Given the description of an element on the screen output the (x, y) to click on. 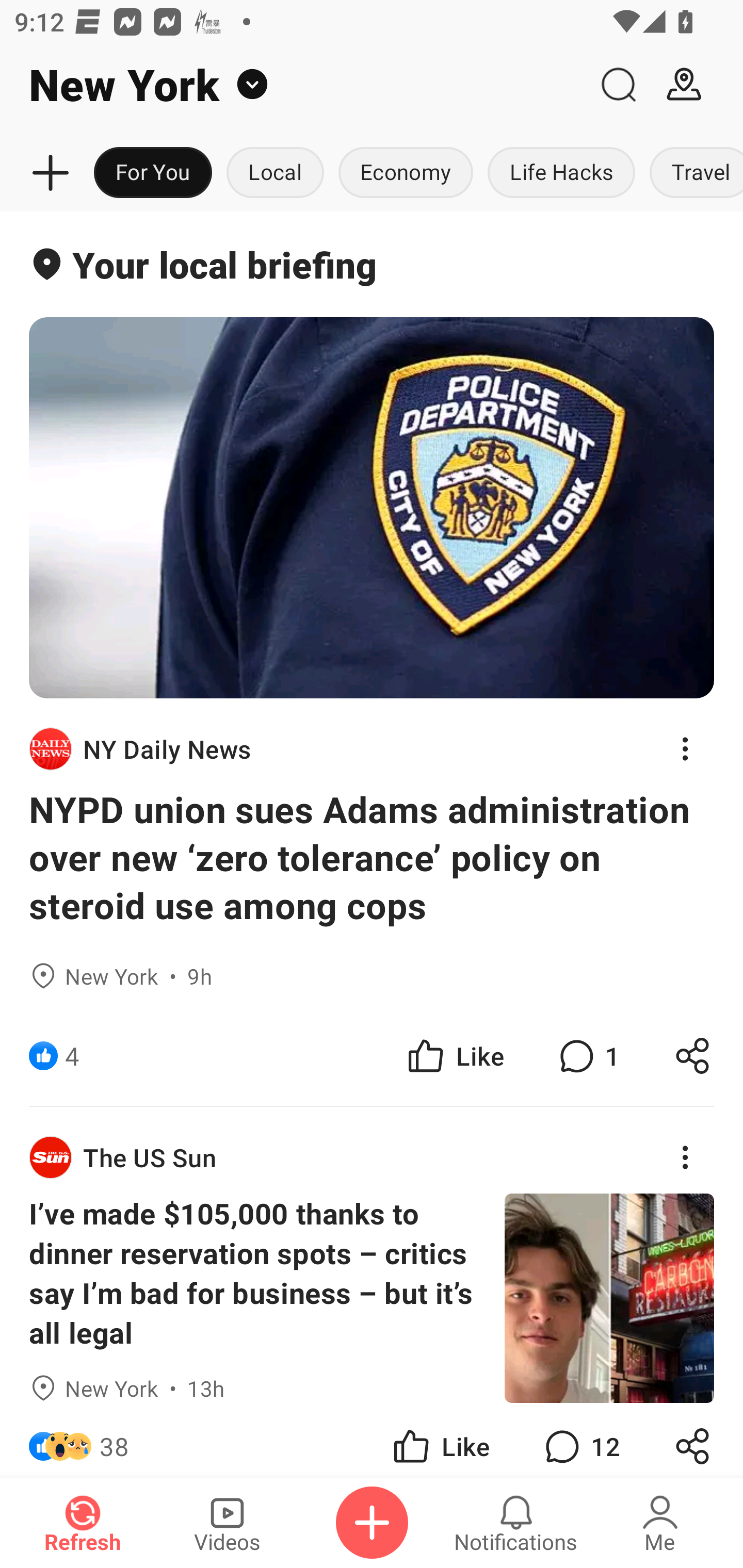
New York (292, 84)
For You (152, 172)
Local (275, 172)
Economy (405, 172)
Life Hacks (561, 172)
Travel (692, 172)
4 (72, 1055)
Like (454, 1055)
1 (587, 1055)
38 (114, 1440)
Like (439, 1440)
12 (579, 1440)
Videos (227, 1522)
Notifications (516, 1522)
Me (659, 1522)
